Given the description of an element on the screen output the (x, y) to click on. 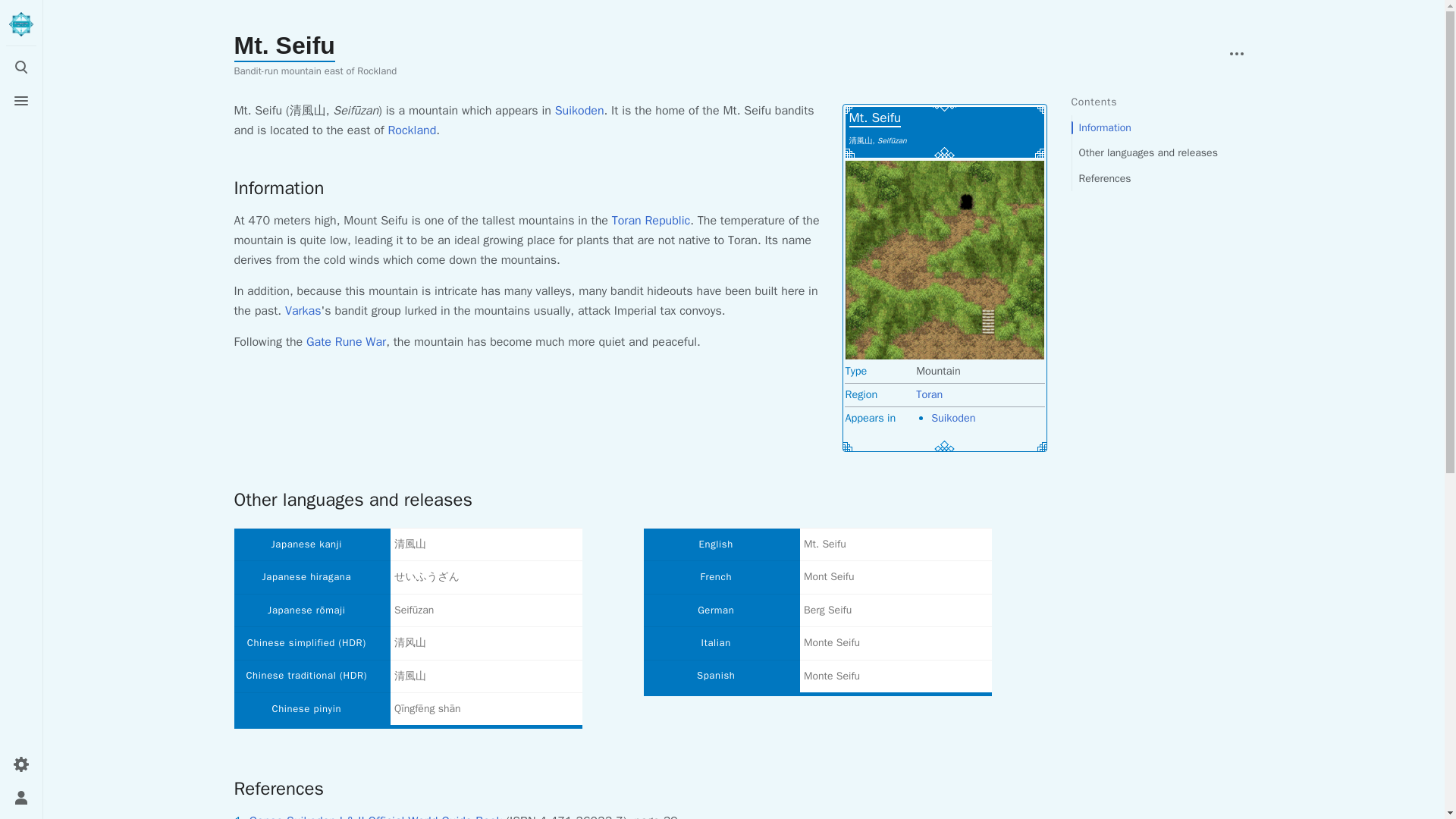
Suikoden (579, 110)
Visit the main page (20, 24)
Suikoden (953, 418)
Toran (928, 394)
Rockland (411, 130)
Gate Rune War (345, 341)
Toran Republic (650, 220)
Preferences (20, 764)
Toggle menu (20, 100)
Toggle personal menu (20, 797)
Varkas (303, 310)
